Given the description of an element on the screen output the (x, y) to click on. 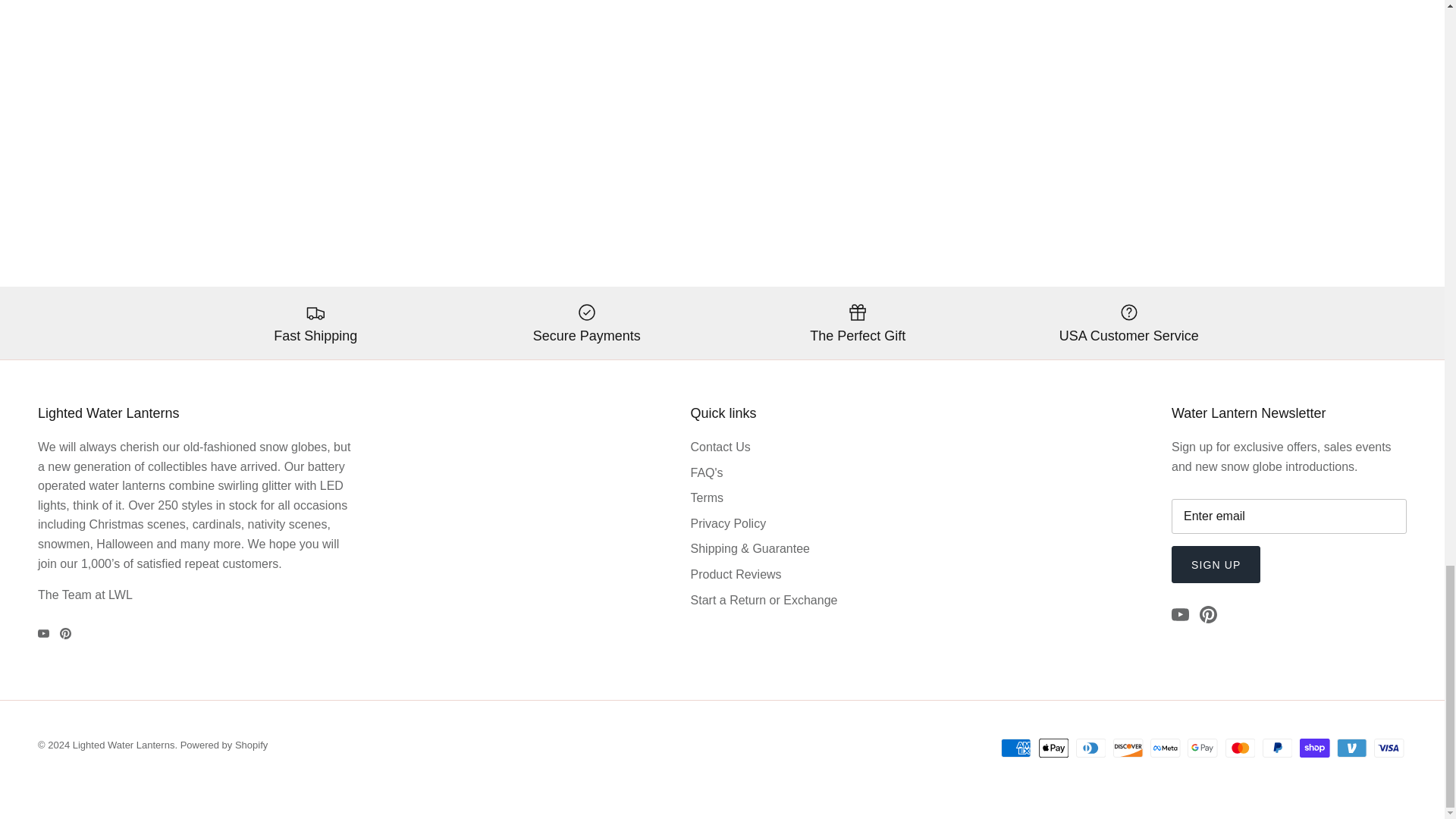
Youtube (43, 633)
